Given the description of an element on the screen output the (x, y) to click on. 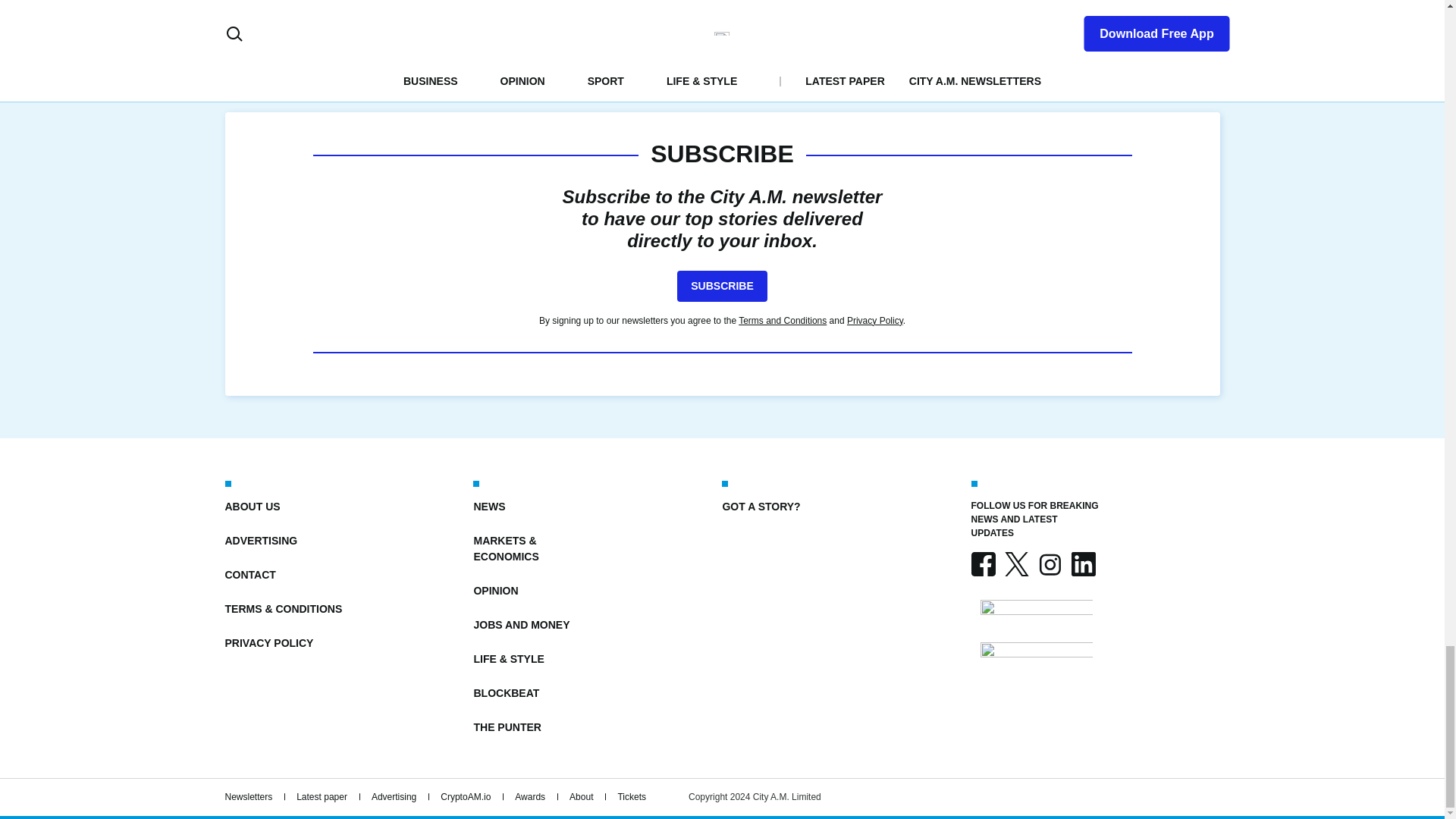
INSTAGRAM (1048, 564)
LINKEDIN (1082, 564)
FACEBOOK (982, 564)
X (1015, 564)
